Given the description of an element on the screen output the (x, y) to click on. 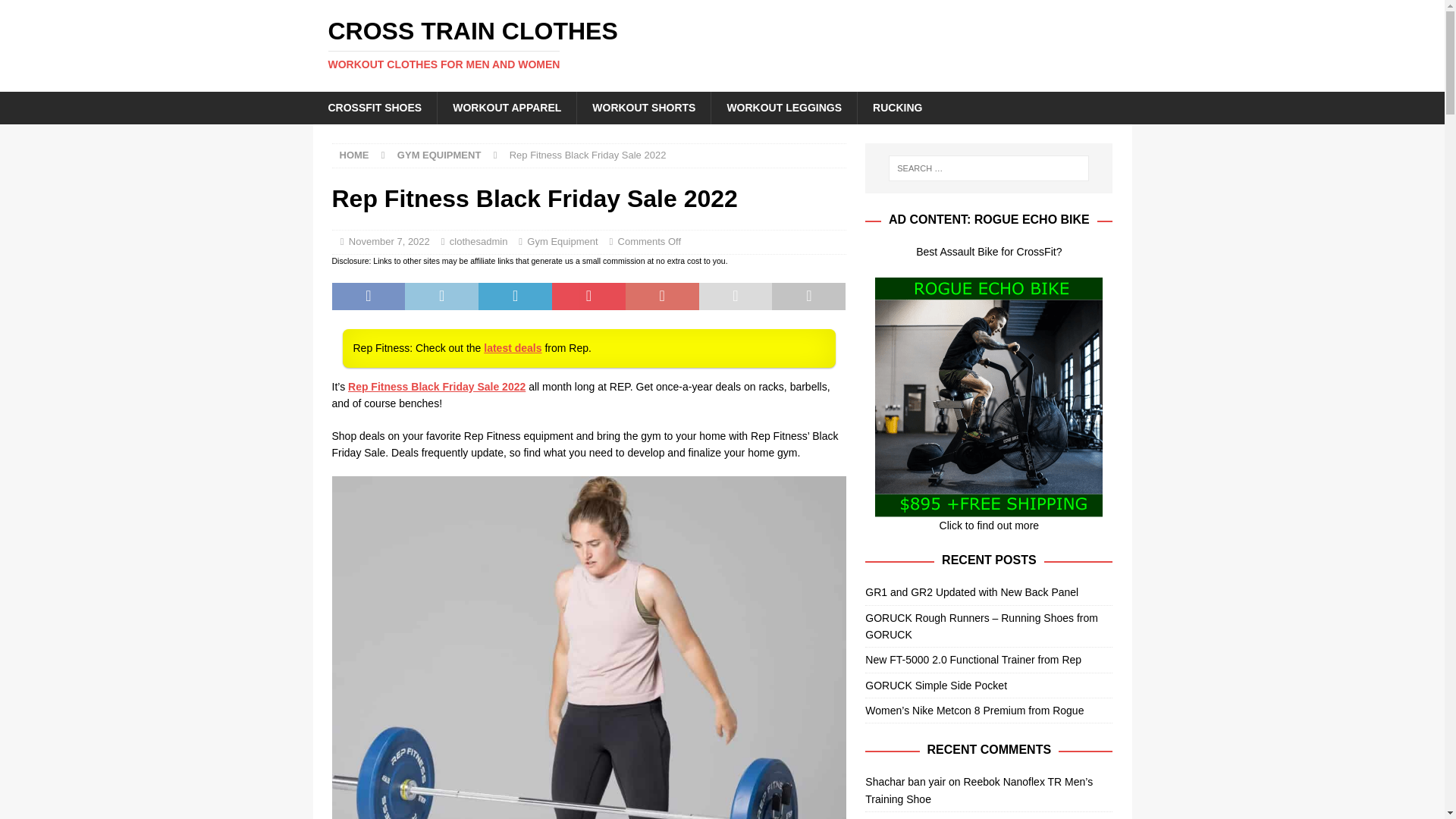
latest deals (512, 347)
WORKOUT LEGGINGS (783, 107)
WORKOUT APPAREL (506, 107)
GYM EQUIPMENT (439, 154)
HOME (354, 154)
clothesadmin (478, 241)
WORKOUT SHORTS (643, 107)
Rep Fitness Black Friday Sale 2022 (436, 386)
CROSSFIT SHOES (374, 107)
November 7, 2022 (721, 44)
RUCKING (389, 241)
Gym Equipment (897, 107)
Cross Train Clothes (561, 241)
